Given the description of an element on the screen output the (x, y) to click on. 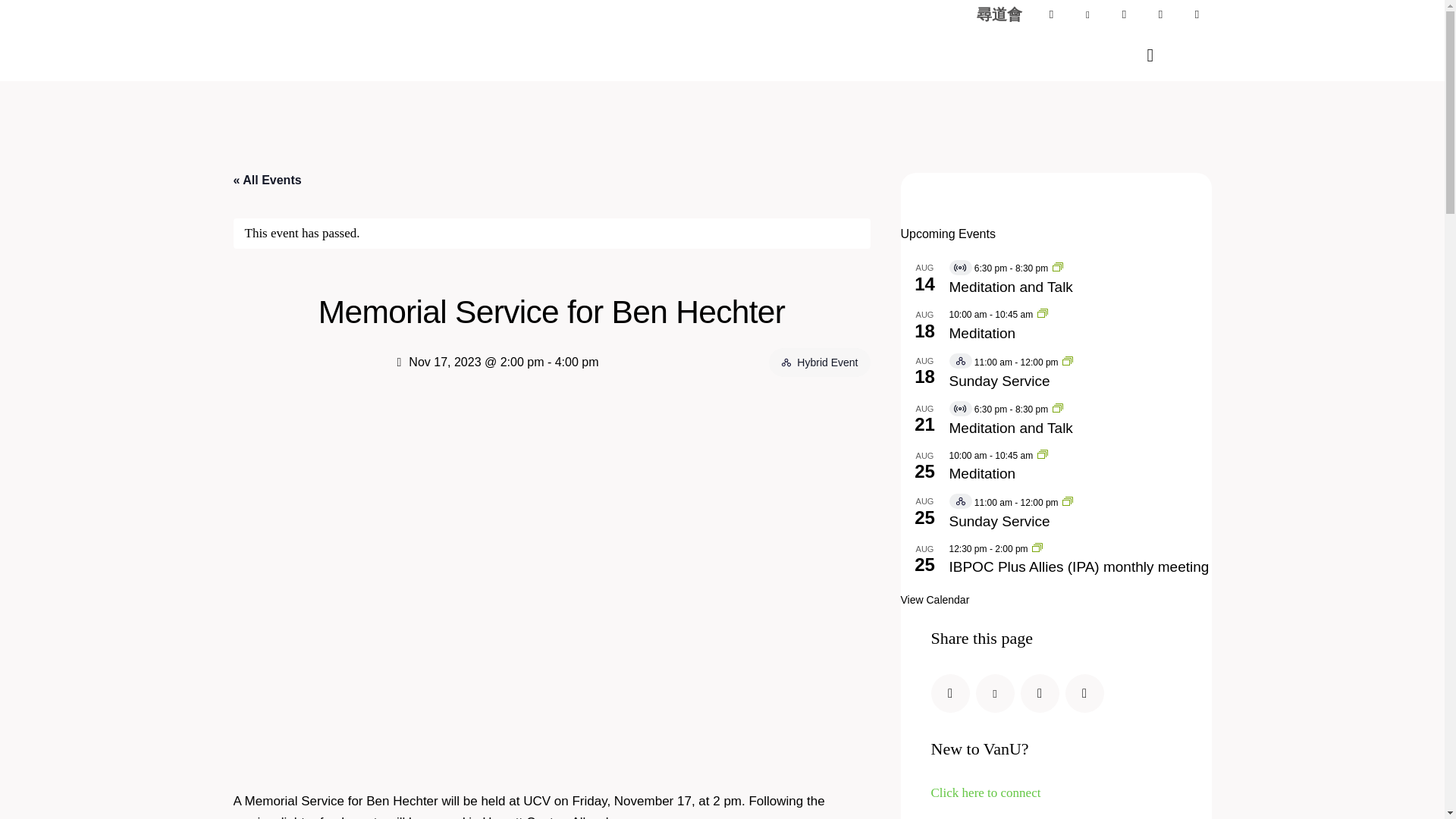
Meditation and Talk (1080, 287)
Virtual Event (959, 267)
Event Series (1037, 547)
Event Series (1057, 407)
Hybrid Event (787, 361)
Hybrid (786, 361)
Event Series (1067, 360)
Event Series (1042, 312)
Event Series (1042, 452)
Meditation (1080, 333)
